Given the description of an element on the screen output the (x, y) to click on. 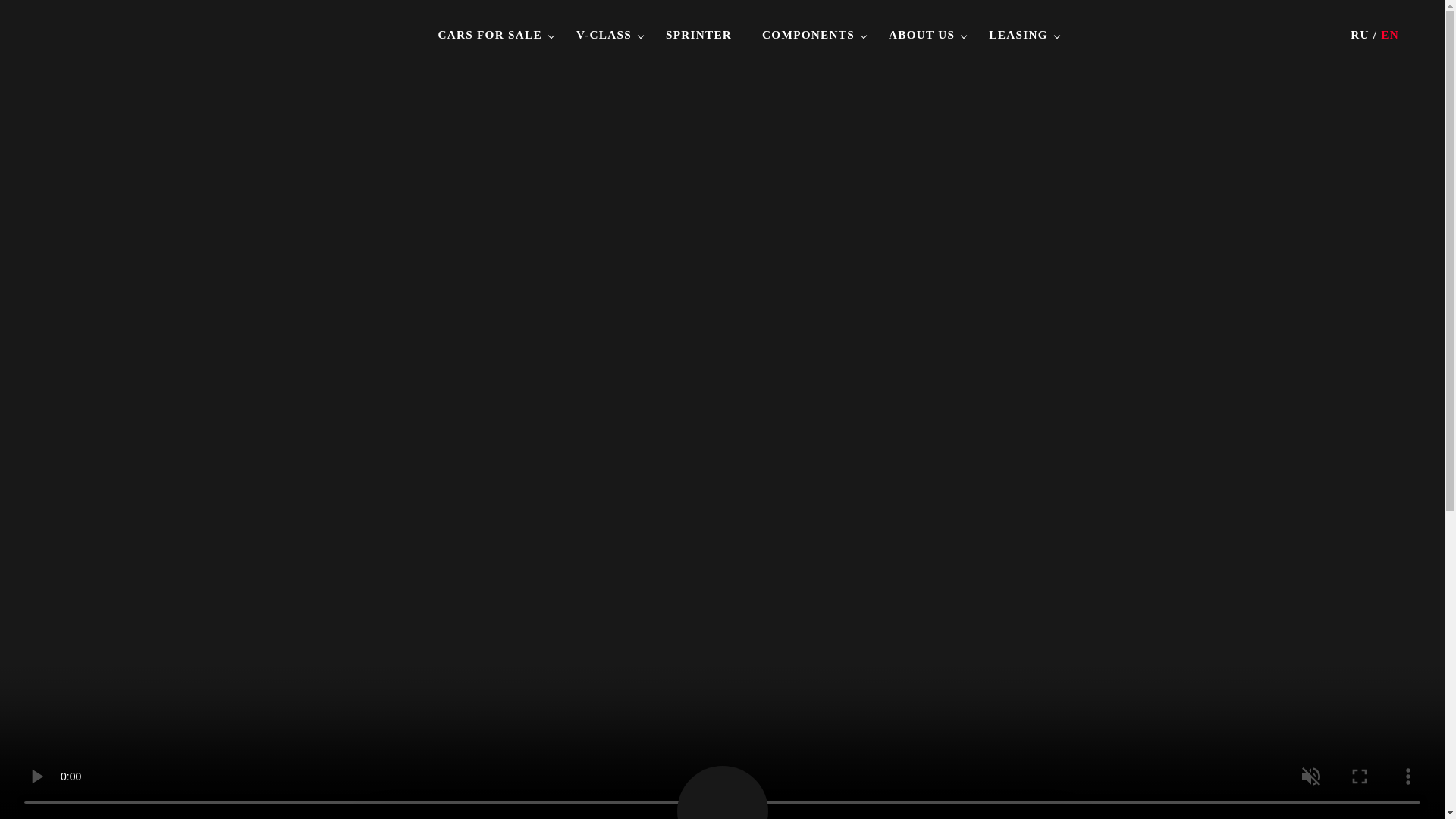
ABOUT US (921, 33)
LEASING (1017, 33)
V-CLASS (603, 33)
CARS FOR SALE (489, 33)
RU (1360, 33)
SPRINTER (698, 33)
COMPONENTS (807, 33)
EN (1389, 33)
